Given the description of an element on the screen output the (x, y) to click on. 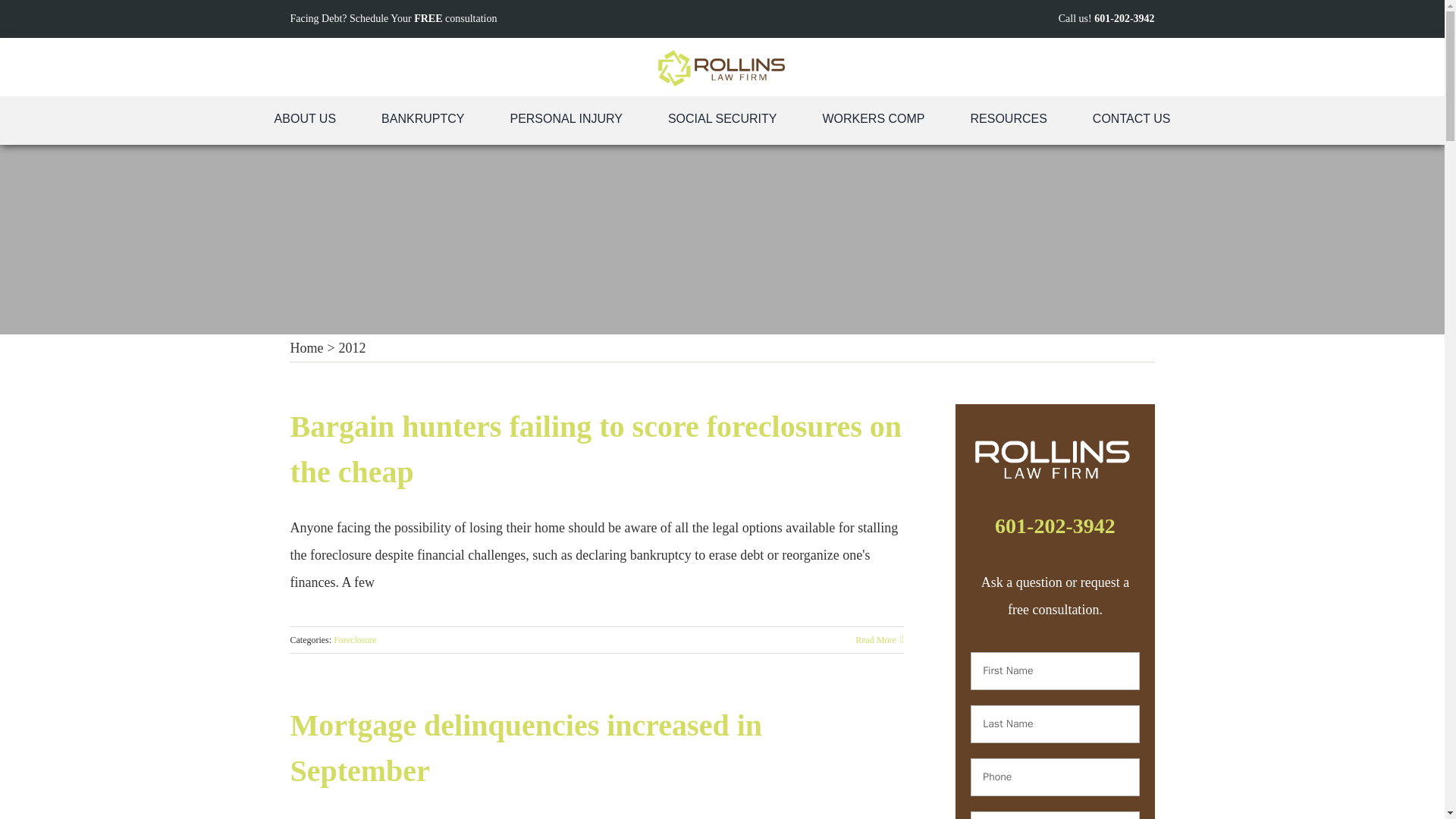
ABOUT US (305, 120)
601-202-3942 (1124, 18)
BANKRUPTCY (422, 120)
Facing Debt? Schedule Your FREE consultation (392, 18)
